Given the description of an element on the screen output the (x, y) to click on. 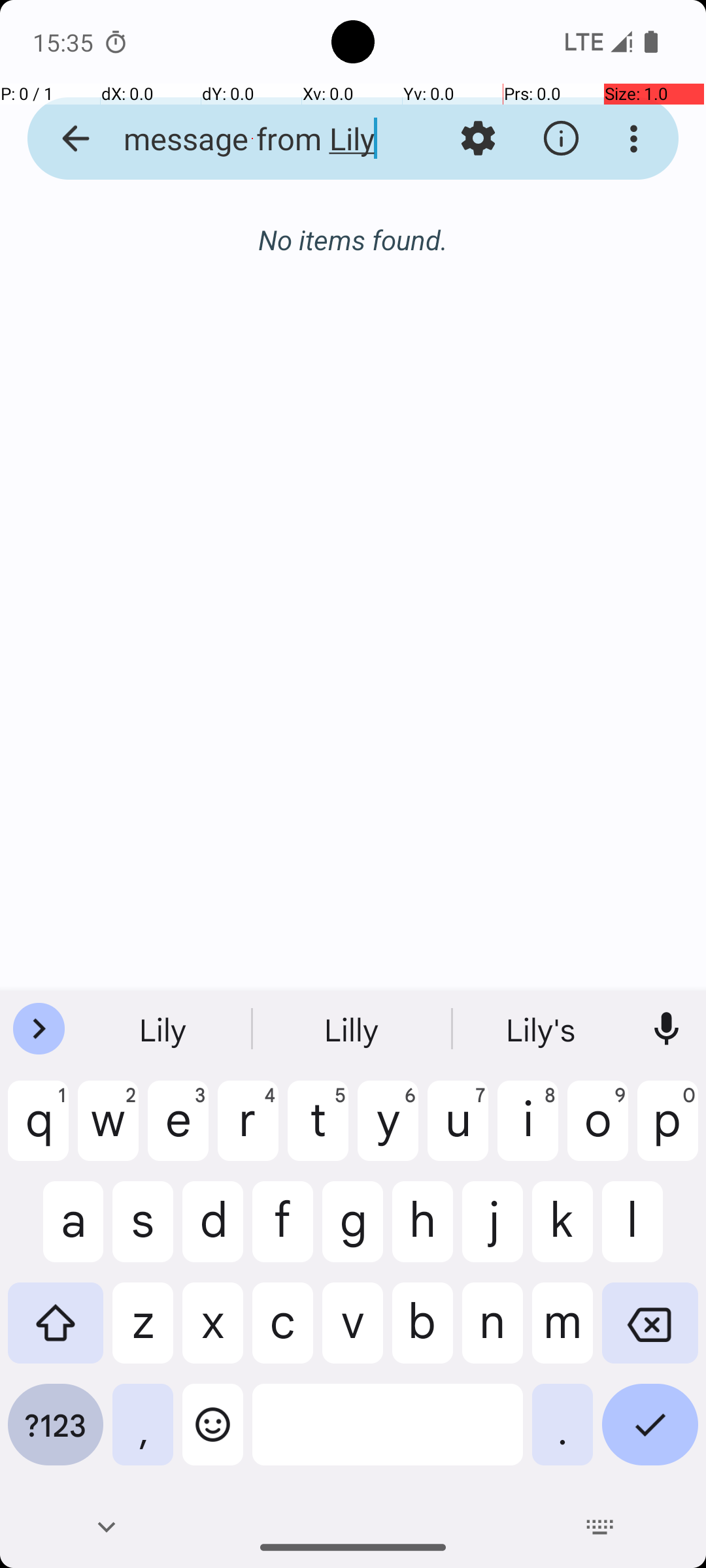
message from Lily Element type: android.widget.EditText (252, 138)
Lily Alves Element type: android.widget.TextView (408, 237)
Lily Element type: android.widget.FrameLayout (163, 1028)
Lol Element type: android.widget.FrameLayout (352, 1028)
